Given the description of an element on the screen output the (x, y) to click on. 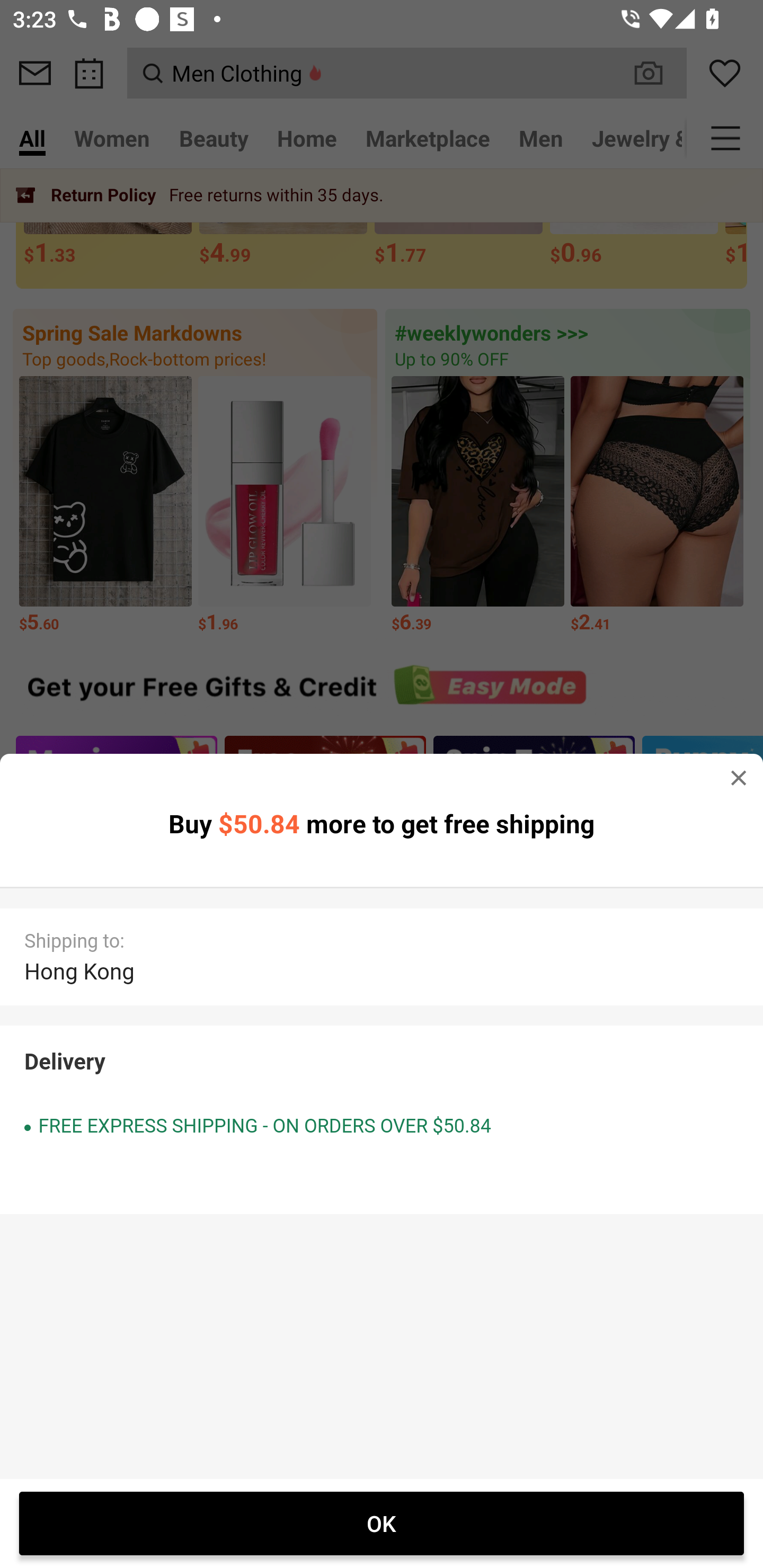
Shipping to: Hong Kong (381, 956)
OK (381, 1523)
